Given the description of an element on the screen output the (x, y) to click on. 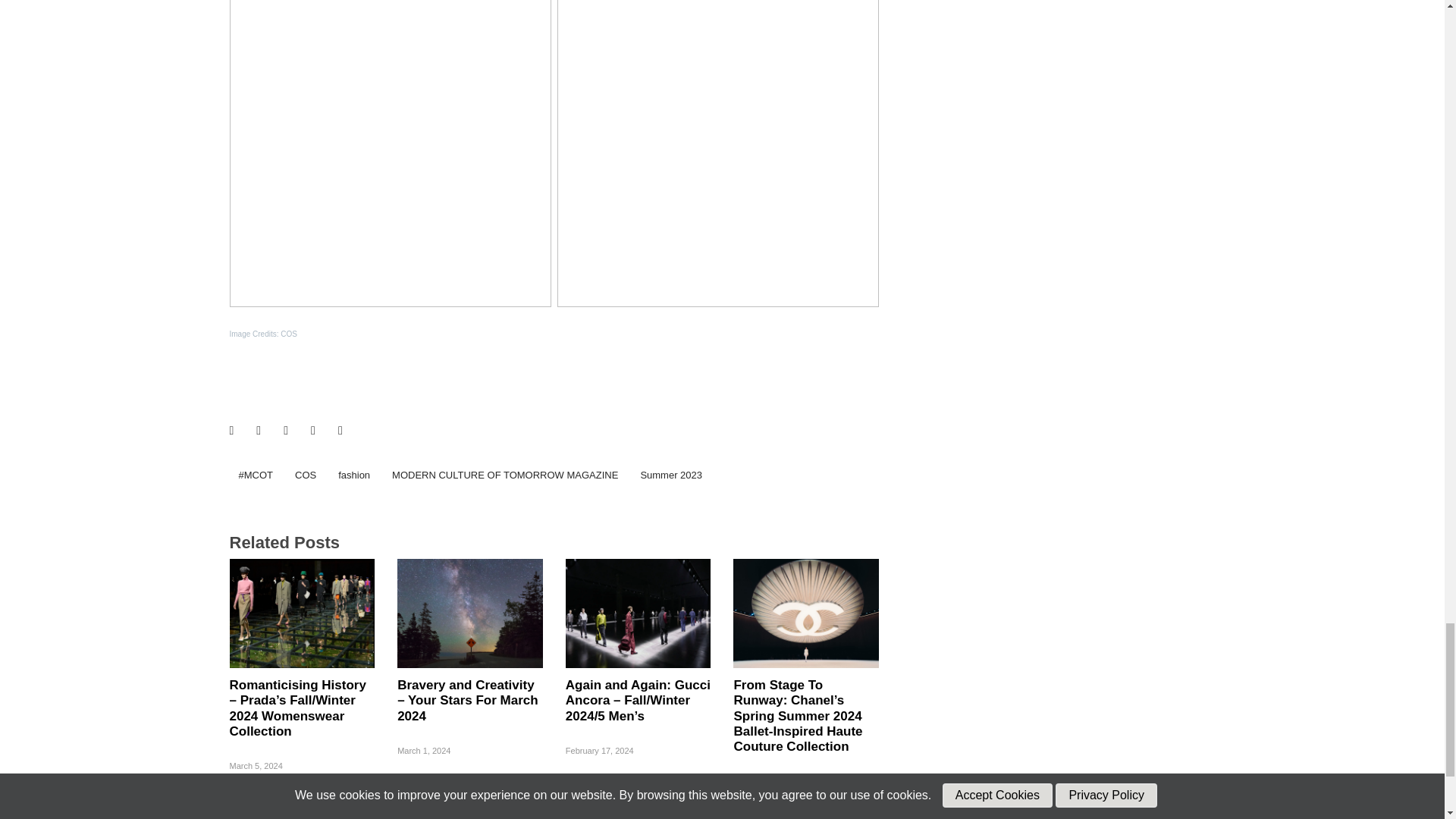
MODERN CULTURE OF TOMORROW MAGAZINE (504, 474)
Summer 2023 (670, 474)
COS (304, 474)
fashion (353, 474)
